Given the description of an element on the screen output the (x, y) to click on. 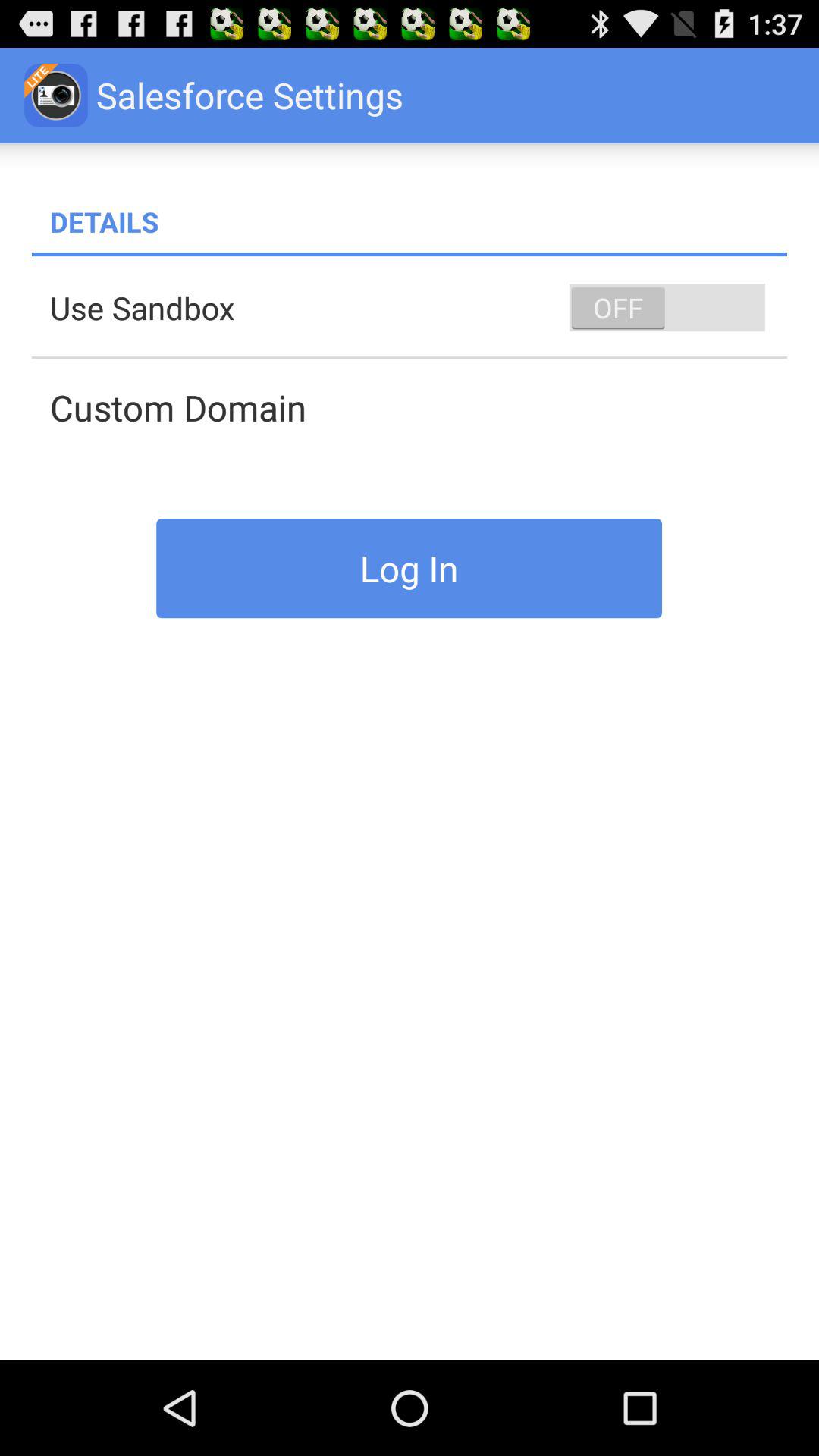
click the details (418, 221)
